Given the description of an element on the screen output the (x, y) to click on. 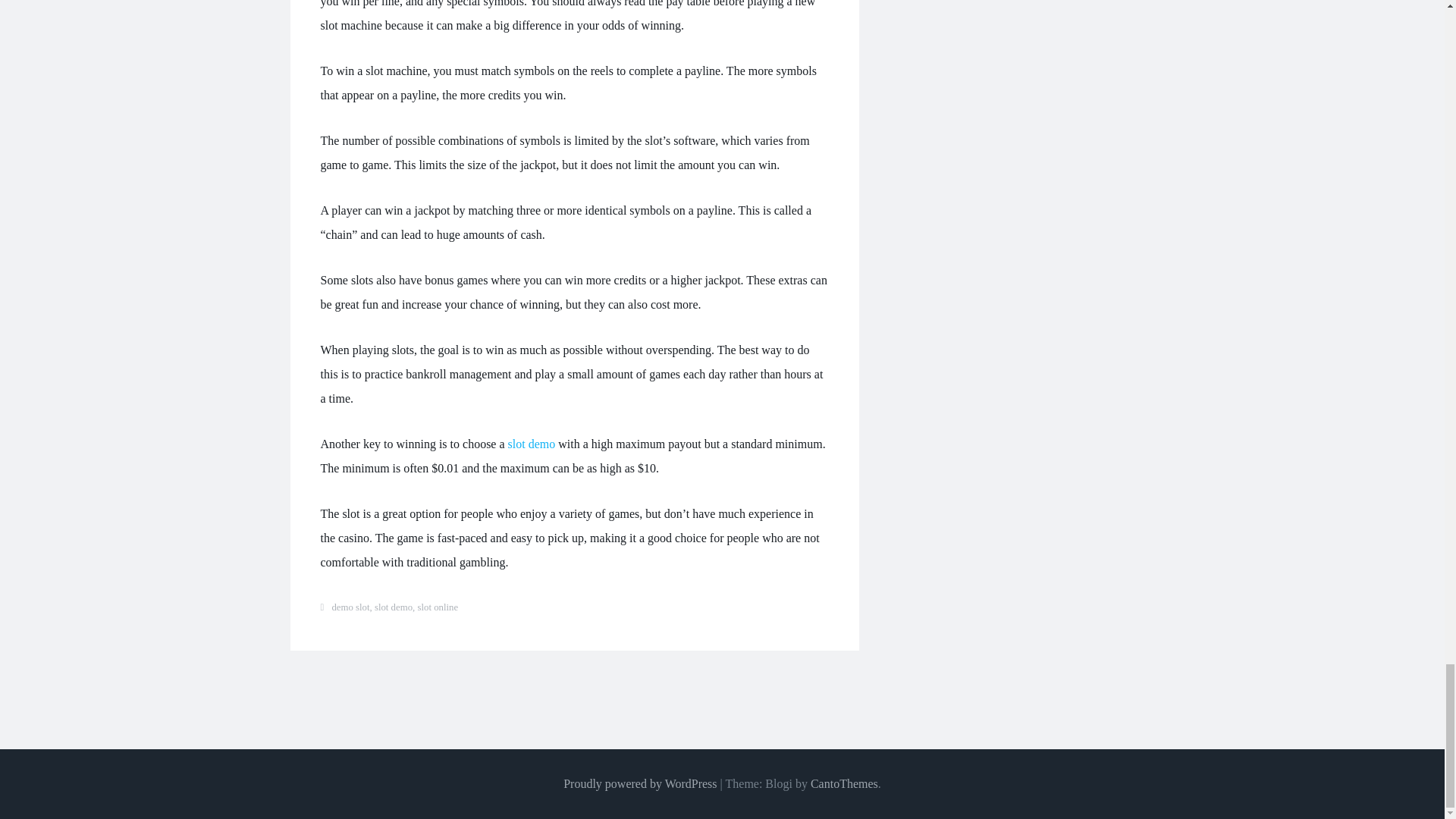
slot online (437, 606)
slot demo (532, 443)
demo slot (350, 606)
slot demo (393, 606)
